Given the description of an element on the screen output the (x, y) to click on. 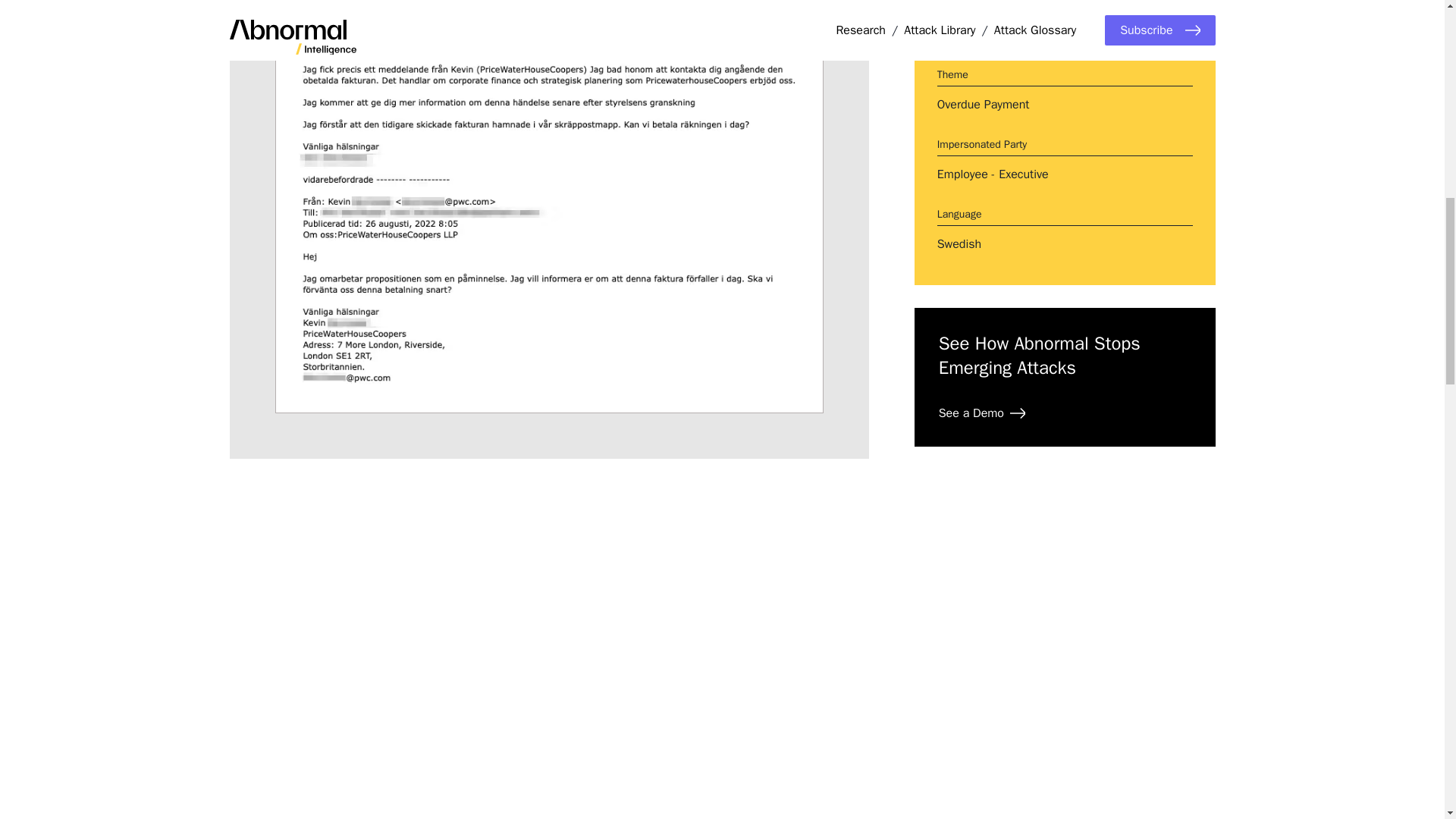
See a Demo (982, 413)
